Given the description of an element on the screen output the (x, y) to click on. 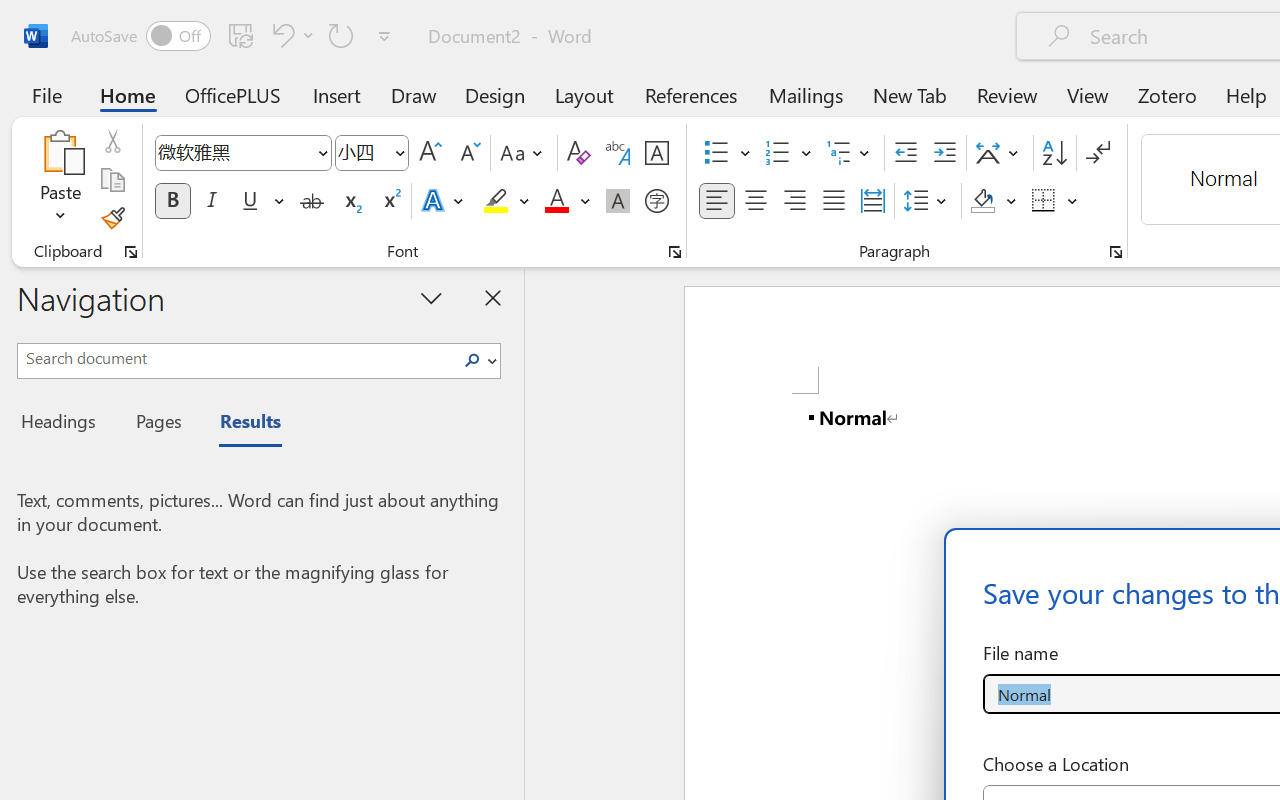
AutoSave (140, 35)
Format Painter (112, 218)
Office Clipboard... (131, 252)
Numbering (788, 153)
Task Pane Options (431, 297)
Text Highlight Color (506, 201)
Change Case (524, 153)
Phonetic Guide... (618, 153)
Text Effects and Typography (444, 201)
Review (1007, 94)
